Given the description of an element on the screen output the (x, y) to click on. 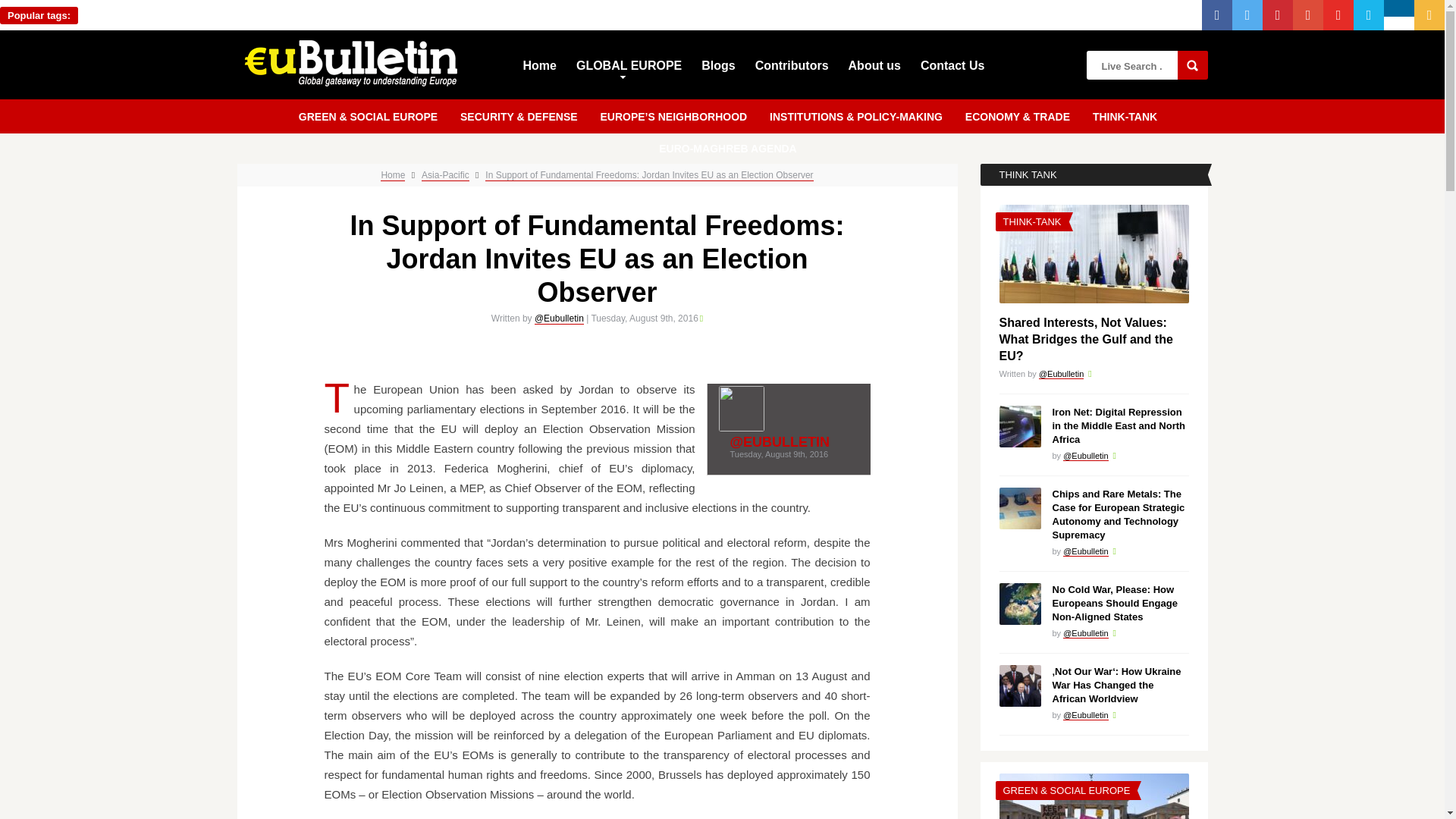
THINK-TANK (1124, 115)
Asia-Pacific (445, 174)
Contributors (791, 64)
Search (1191, 64)
Blogs (718, 64)
Home (392, 174)
Home (539, 64)
View all posts in Asia-Pacific (445, 174)
EURO-MAGHREB AGENDA (727, 146)
Search (1191, 64)
